Given the description of an element on the screen output the (x, y) to click on. 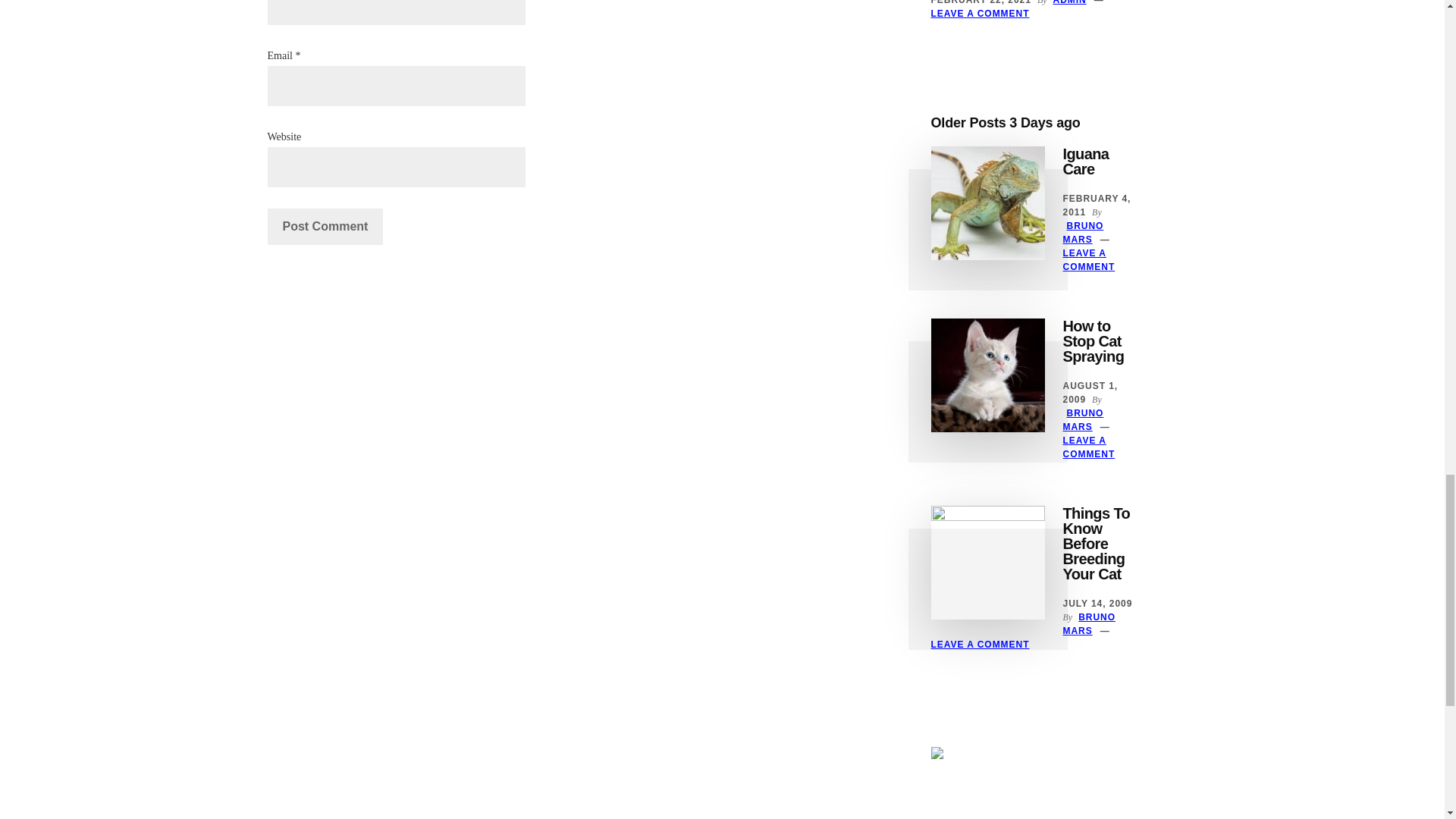
LEAVE A COMMENT (1088, 259)
BRUNO MARS (1082, 419)
LEAVE A COMMENT (980, 13)
How to Stop Cat Spraying (1093, 340)
BRUNO MARS (1082, 232)
LEAVE A COMMENT (1088, 446)
Post Comment (324, 226)
ADMIN (1069, 2)
Post Comment (324, 226)
Iguana Care (1085, 161)
